Given the description of an element on the screen output the (x, y) to click on. 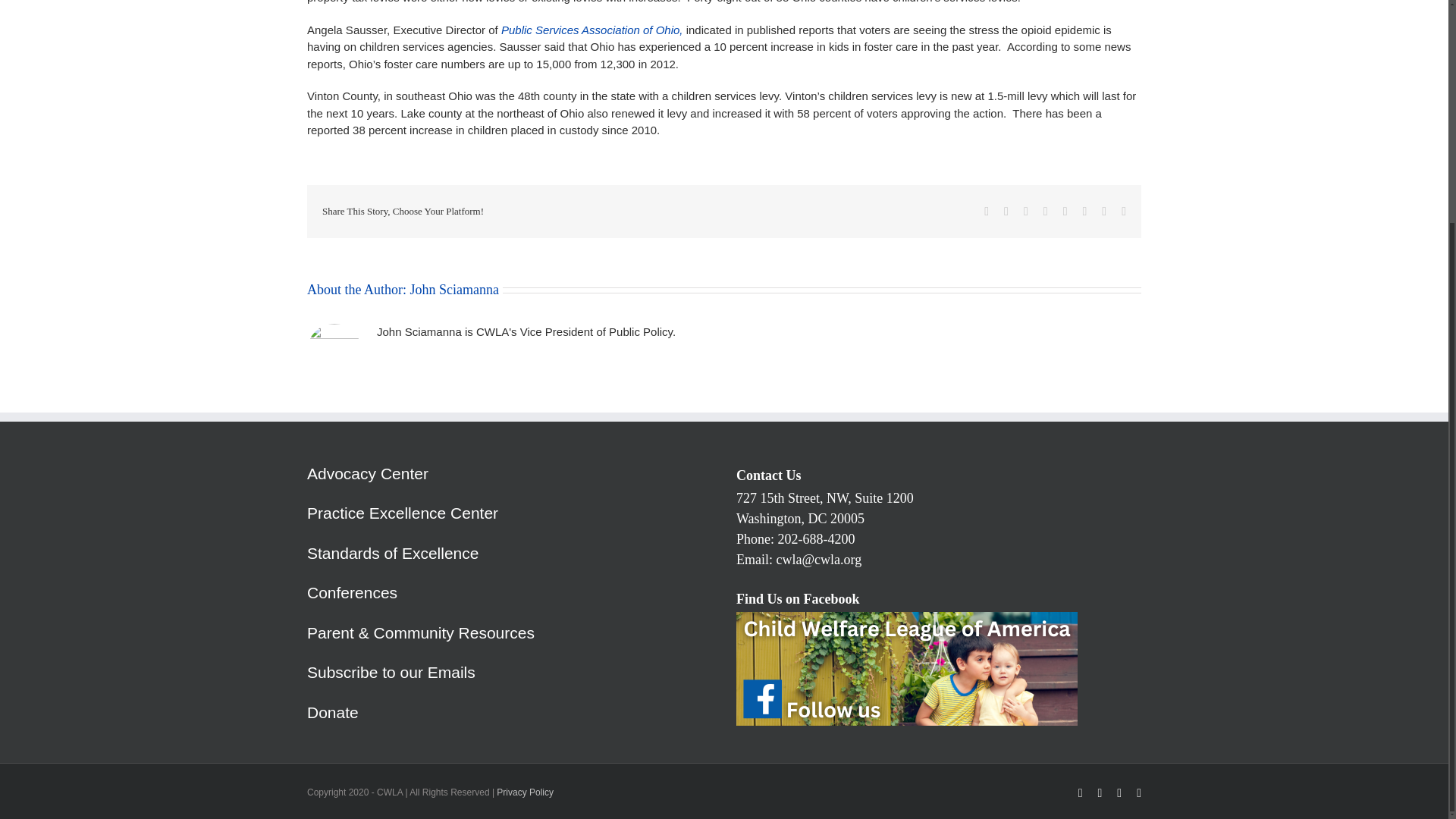
Posts by John Sciamanna (453, 288)
